Given the description of an element on the screen output the (x, y) to click on. 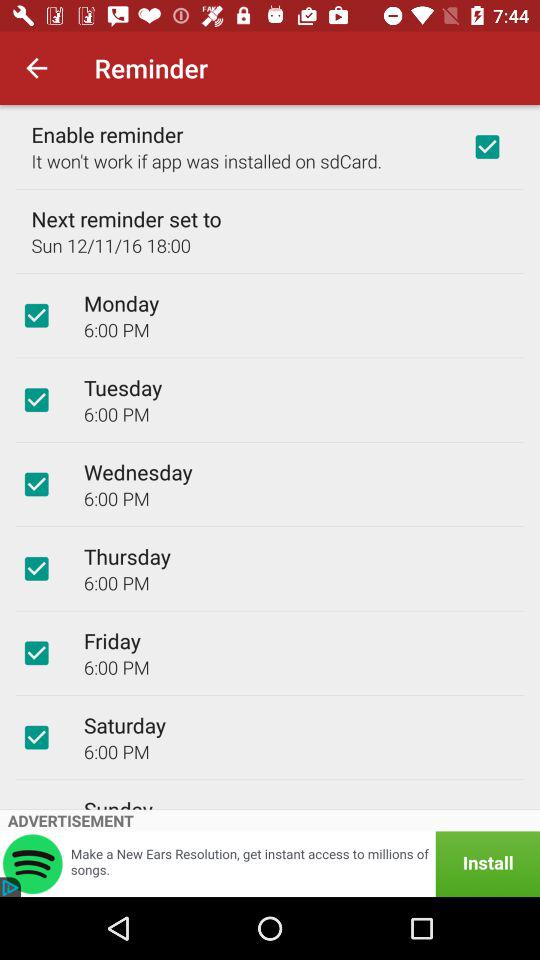
toggle reminder option (36, 484)
